Given the description of an element on the screen output the (x, y) to click on. 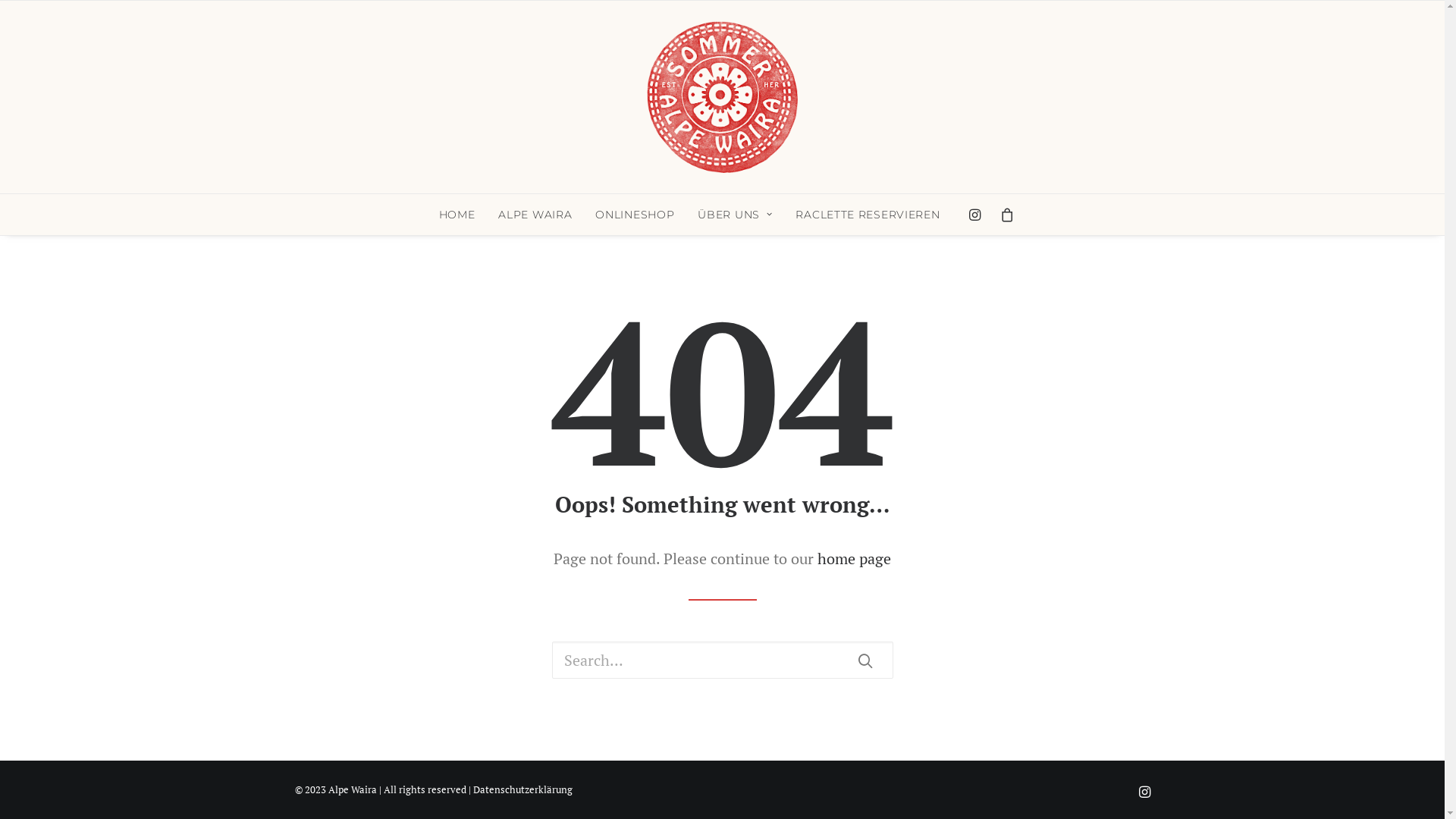
ONLINESHOP Element type: text (634, 214)
RACLETTE RESERVIEREN Element type: text (862, 214)
Search for: Element type: hover (722, 659)
ALPE WAIRA Element type: text (534, 214)
HOME Element type: text (457, 214)
cart Element type: hover (1002, 214)
home page Element type: text (854, 558)
